Given the description of an element on the screen output the (x, y) to click on. 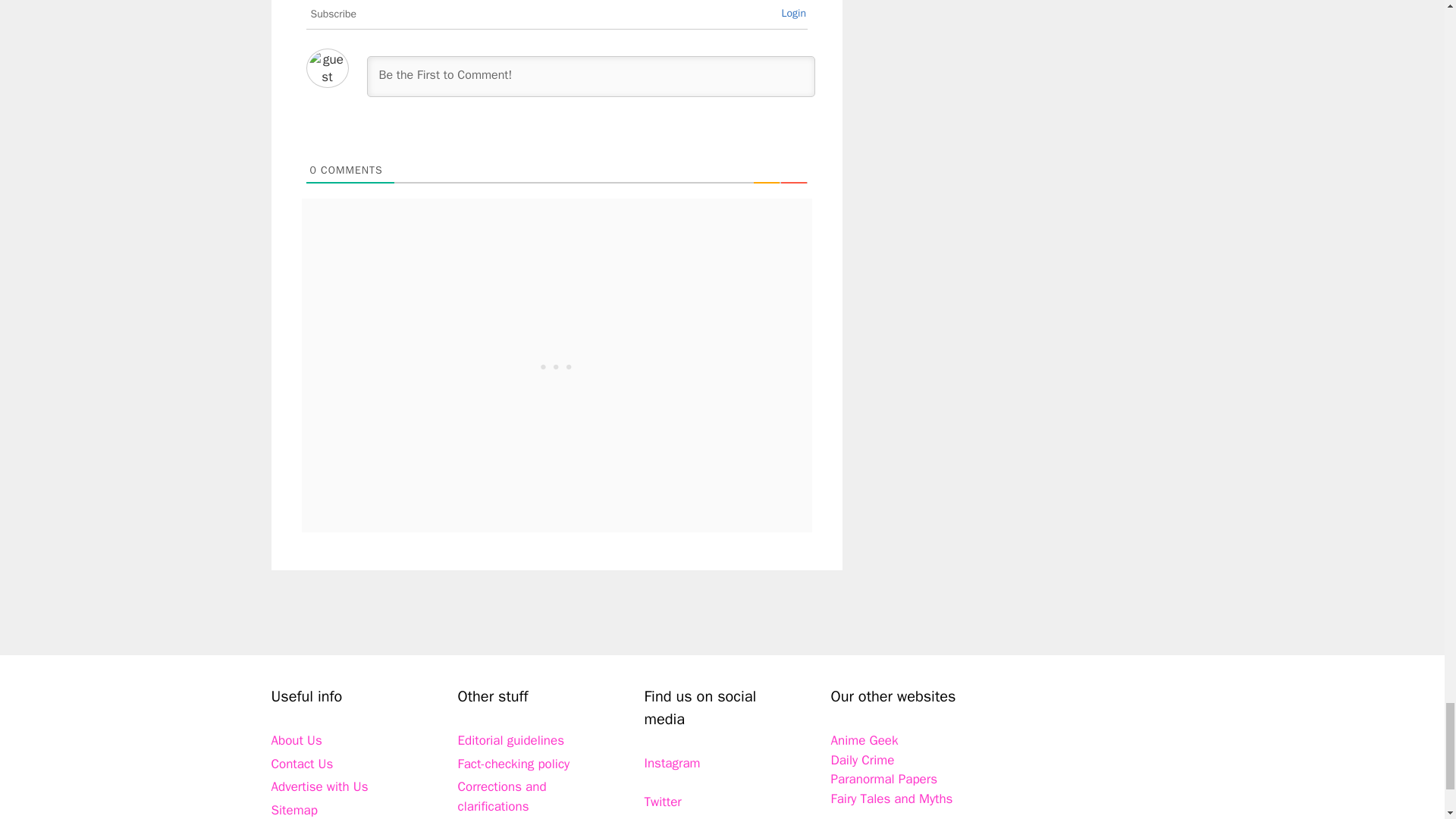
Instagram (672, 763)
Editorial guidelines (511, 740)
Login (793, 12)
Sitemap (293, 810)
Advertise with Us (319, 786)
Twitter (663, 801)
About Us (295, 740)
Contact Us (301, 763)
Corrections and clarifications (502, 796)
Fact-checking policy (514, 763)
